Given the description of an element on the screen output the (x, y) to click on. 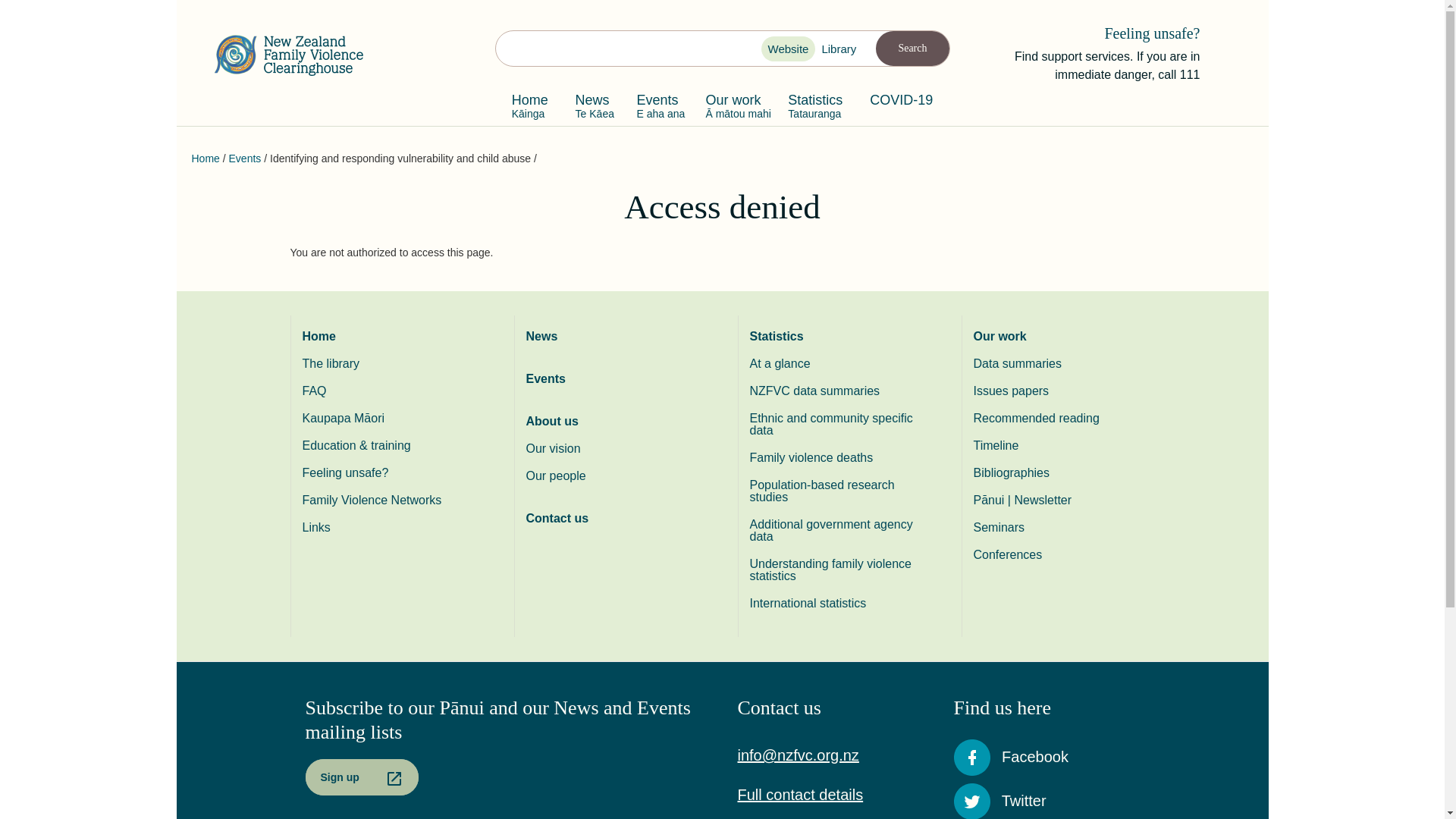
Events (245, 158)
Our vision (616, 448)
Family Violence Networks (392, 500)
NZFVC data summaries (839, 390)
on (772, 50)
on (826, 50)
Understanding family violence statistics (839, 569)
Links (392, 527)
Contact us (616, 518)
Home (294, 55)
Home (392, 336)
FAQ (392, 390)
Statistics (839, 336)
COVID-19 (900, 103)
